Given the description of an element on the screen output the (x, y) to click on. 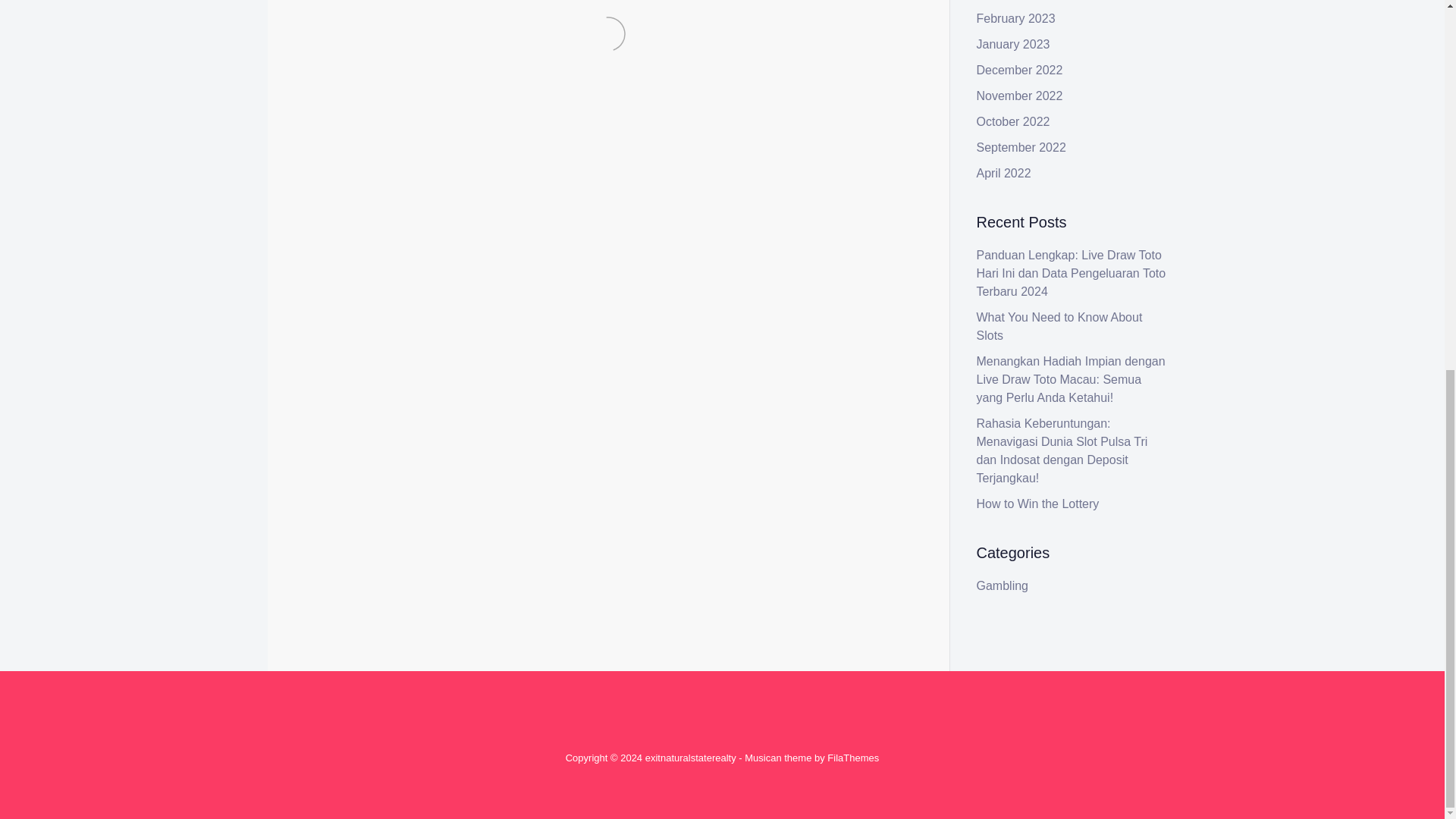
exitnaturalstaterealty (690, 757)
April 2022 (1003, 173)
September 2022 (1020, 146)
December 2022 (1019, 69)
October 2022 (1012, 121)
Gambling (376, 348)
January 2023 (1012, 43)
What You Need to Know About Slots (1059, 326)
February 2023 (1015, 18)
How to Win the Lottery (1037, 503)
Gambling (1001, 585)
November 2022 (1019, 95)
